Given the description of an element on the screen output the (x, y) to click on. 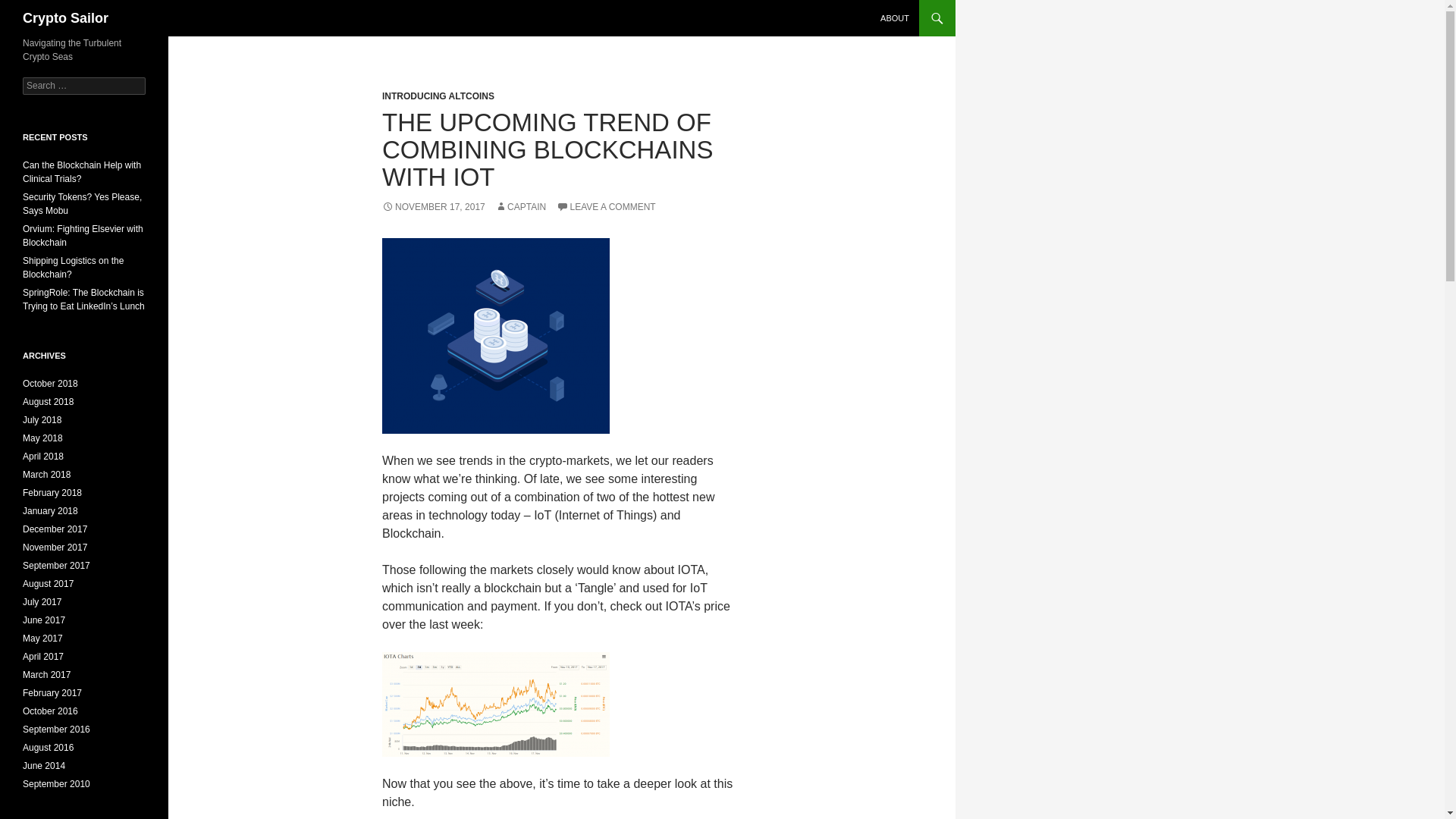
November 2017 (55, 547)
March 2018 (46, 474)
CAPTAIN (520, 206)
February 2018 (52, 492)
ABOUT (894, 18)
July 2018 (42, 419)
August 2018 (48, 401)
May 2018 (42, 438)
December 2017 (55, 529)
April 2018 (43, 456)
Crypto Sailor (65, 18)
LEAVE A COMMENT (606, 206)
September 2017 (56, 565)
Shipping Logistics on the Blockchain? (73, 267)
Can the Blockchain Help with Clinical Trials? (82, 171)
